Given the description of an element on the screen output the (x, y) to click on. 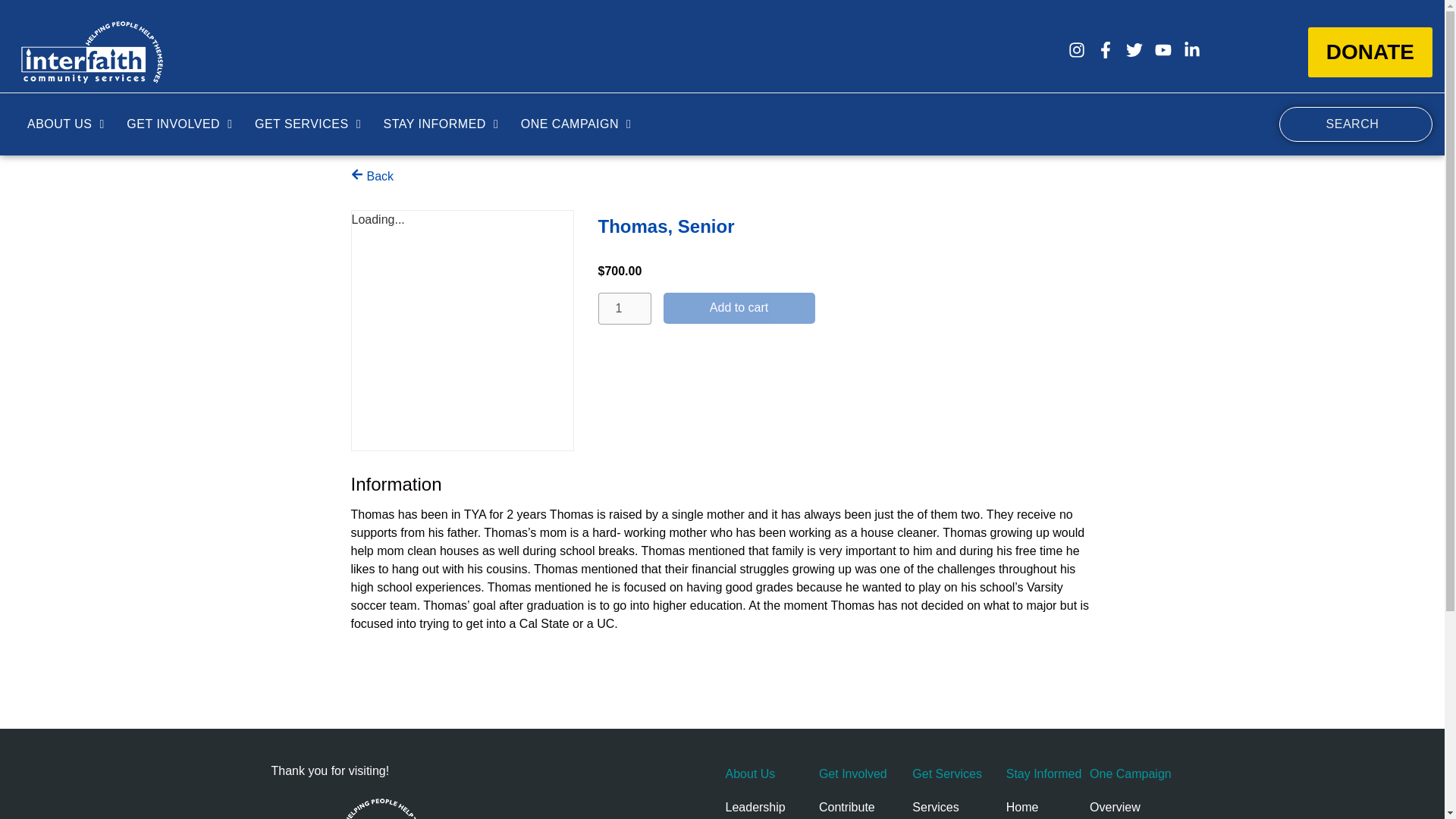
ABOUT US (65, 123)
1 (623, 308)
STAY INFORMED (439, 123)
GET INVOLVED (179, 123)
DONATE (1369, 51)
GET SERVICES (307, 123)
